Given the description of an element on the screen output the (x, y) to click on. 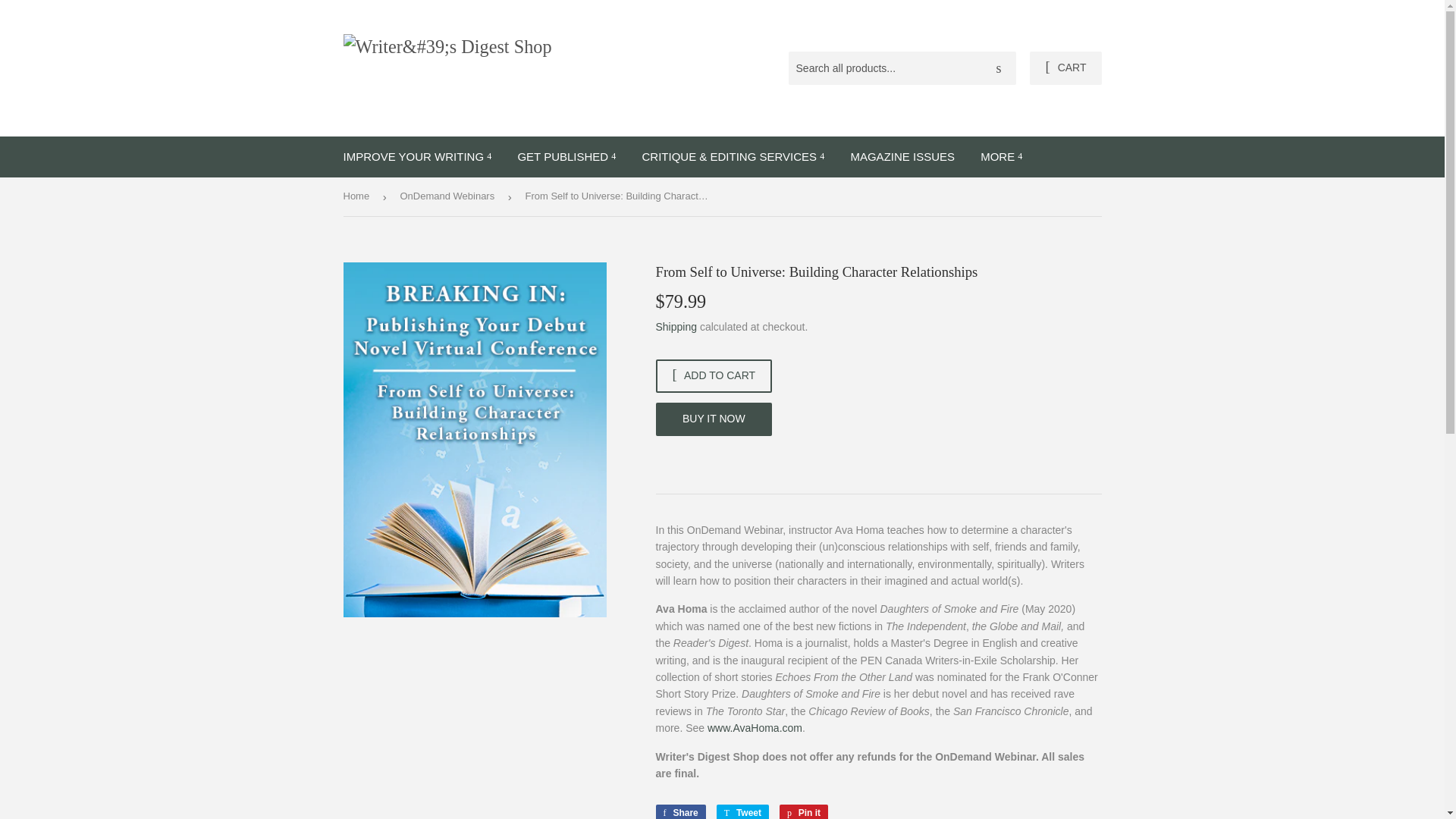
CART (1064, 68)
Pin on Pinterest (803, 811)
Tweet on Twitter (742, 811)
Search (998, 69)
Share on Facebook (679, 811)
